Given the description of an element on the screen output the (x, y) to click on. 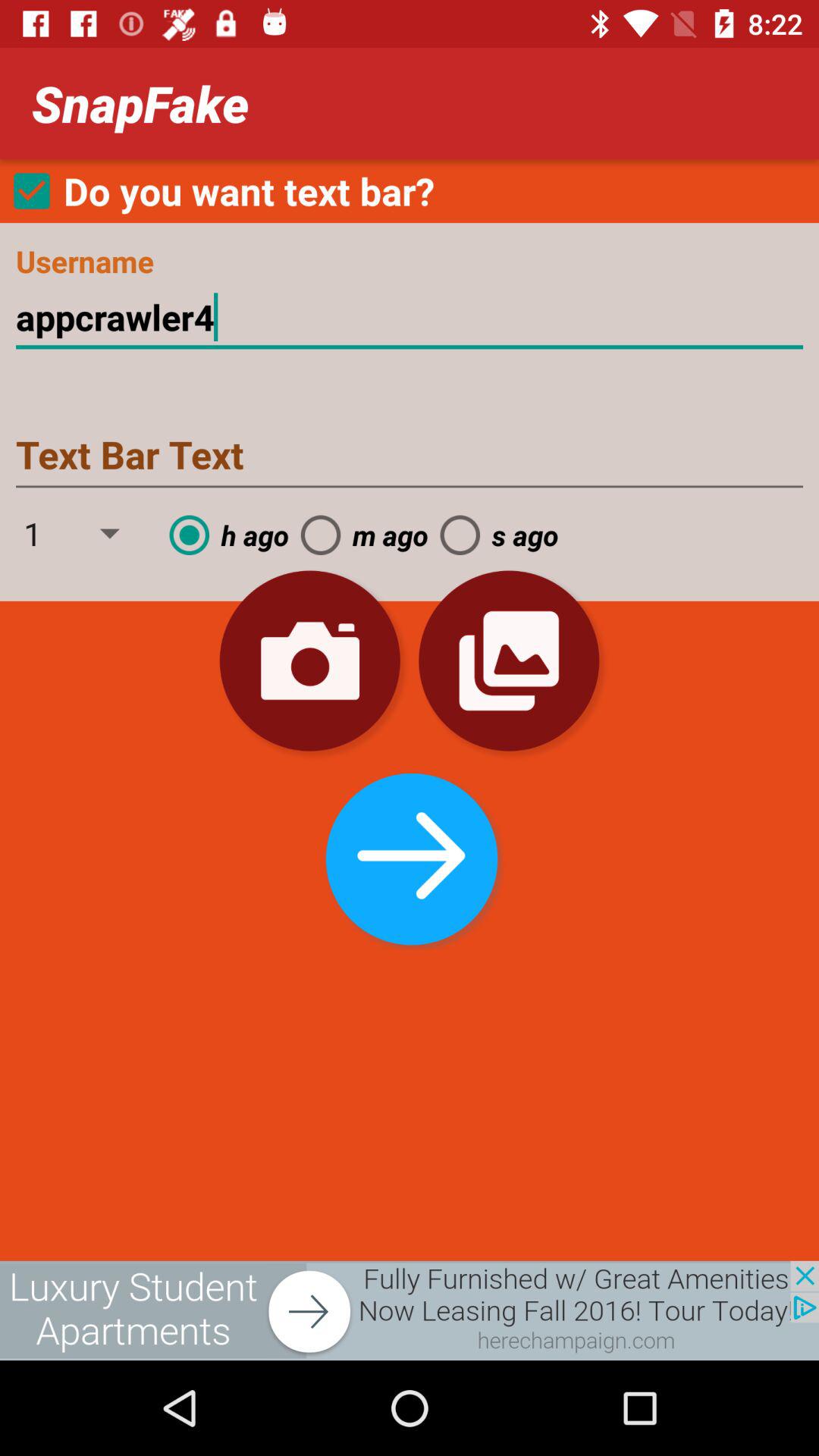
choose from gallery (508, 660)
